Given the description of an element on the screen output the (x, y) to click on. 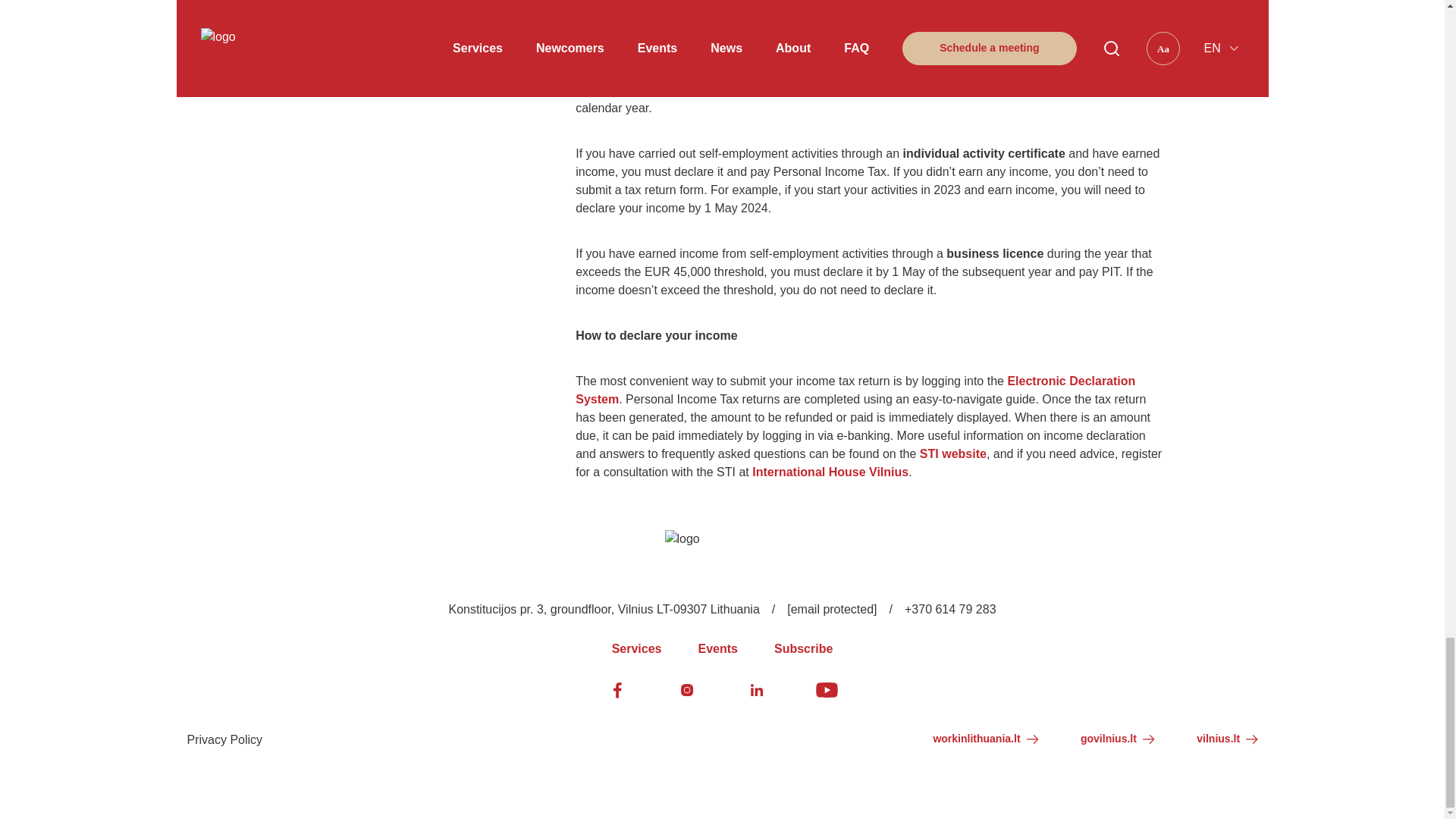
vilnius.lt (1226, 738)
govilnius.lt (1117, 738)
STI website (953, 453)
Electronic Declaration System (855, 389)
Events (716, 648)
Privacy Policy (224, 740)
Services (636, 648)
International House Vilnius (830, 472)
workinlithuania.lt (985, 738)
